Given the description of an element on the screen output the (x, y) to click on. 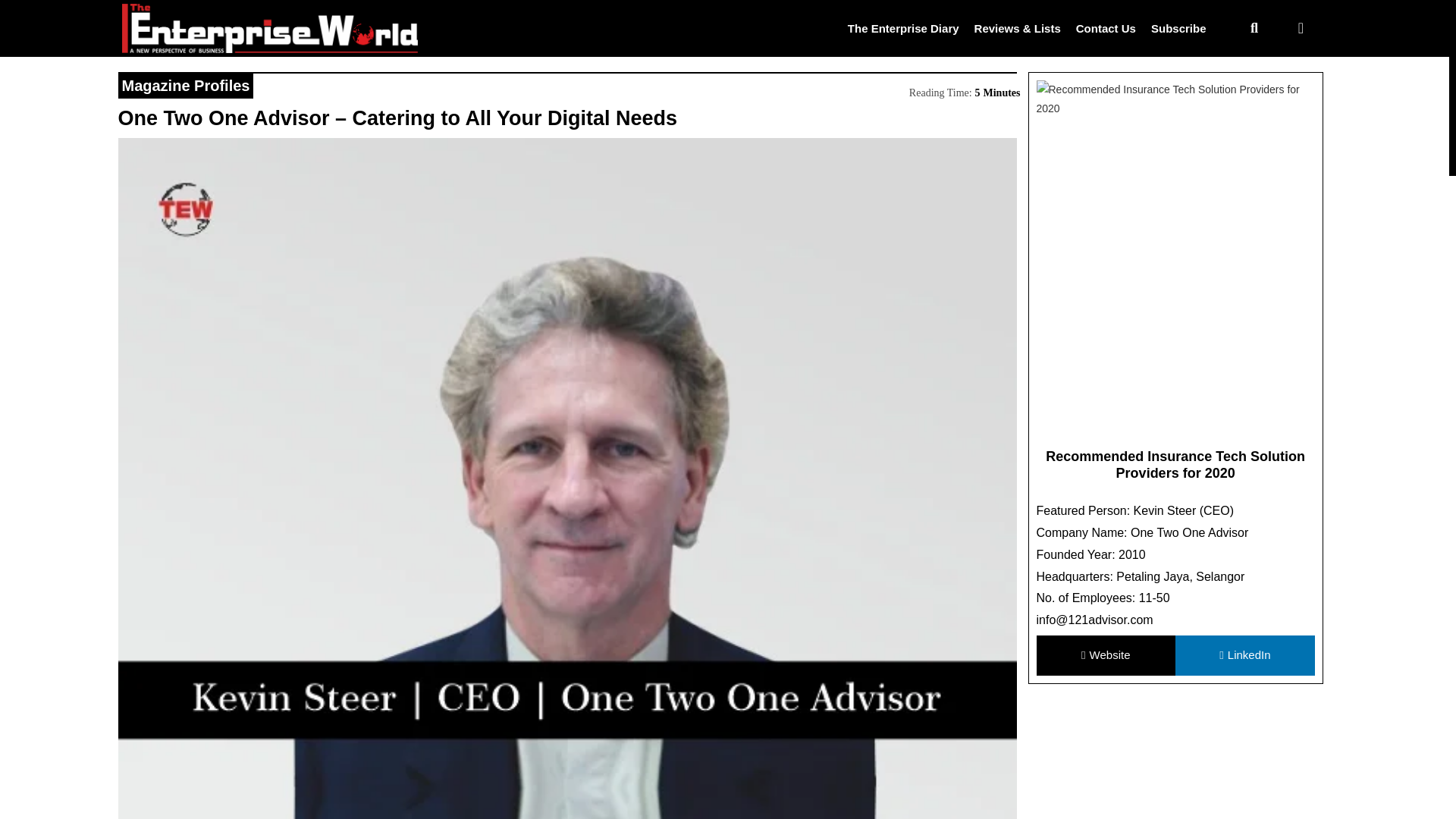
Contact Us (1105, 28)
Recommended Insurance Tech Solution Providers for 2020 (1174, 464)
LinkedIn (1244, 655)
Website (1104, 655)
The Enterprise Diary (903, 28)
Magazine Profiles (184, 85)
Subscribe (1179, 28)
